Given the description of an element on the screen output the (x, y) to click on. 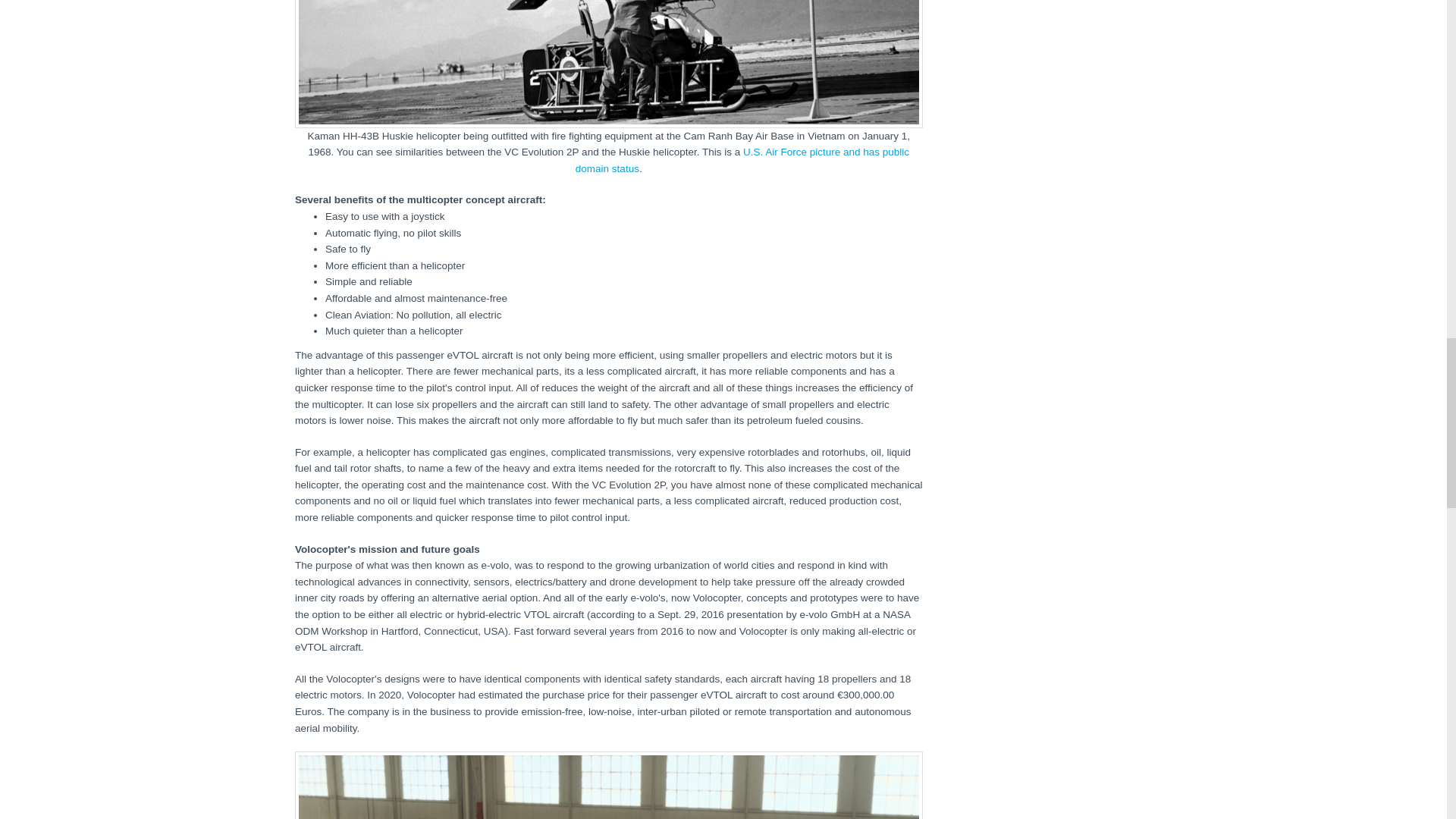
U.S. Air Force picture and has public domain status (741, 160)
VC Evolution 2P side view (609, 785)
